Given the description of an element on the screen output the (x, y) to click on. 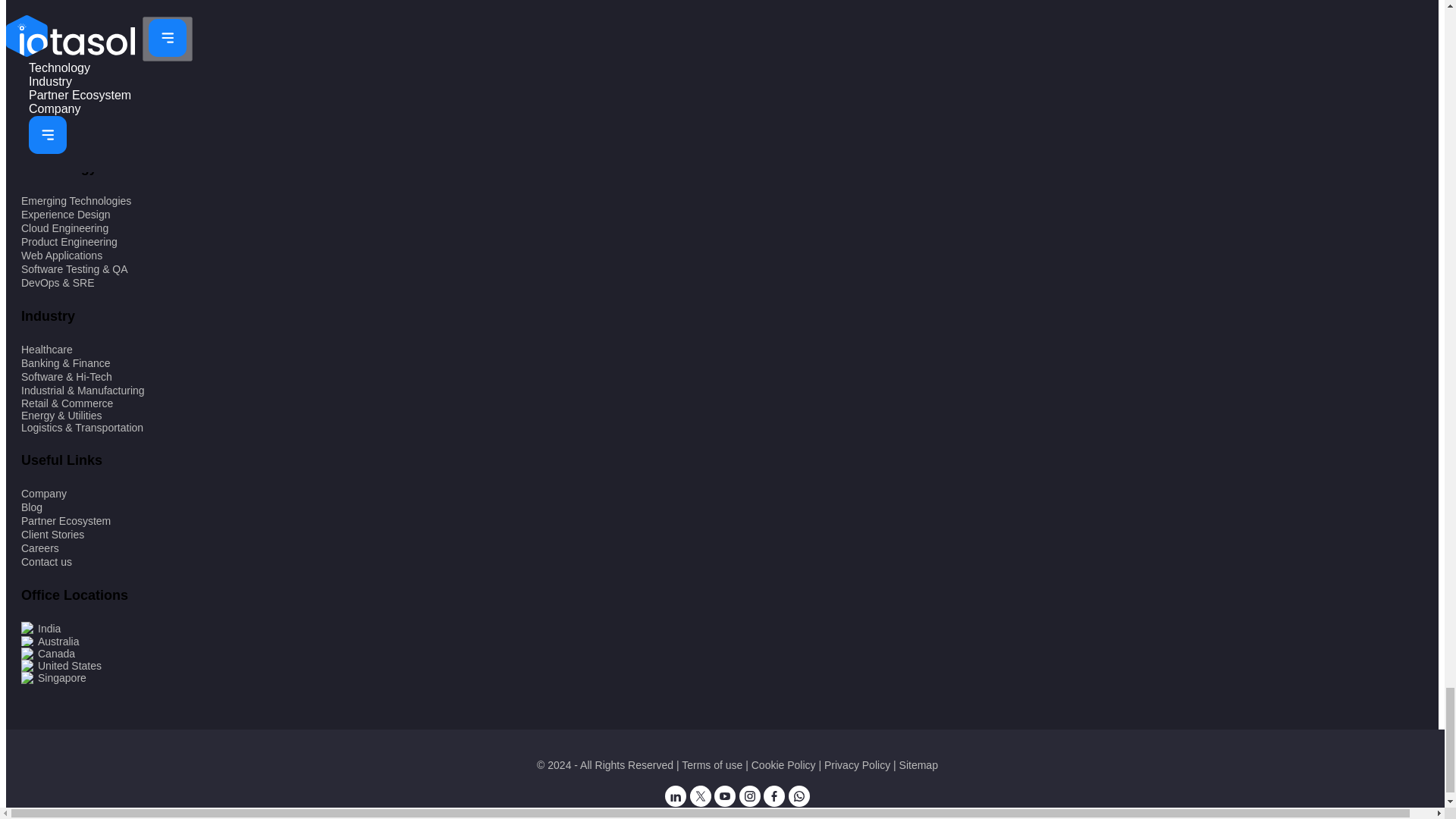
Experience Design (65, 214)
Emerging Technologies (76, 200)
Product Engineering (69, 241)
Cloud Engineering (64, 227)
